Given the description of an element on the screen output the (x, y) to click on. 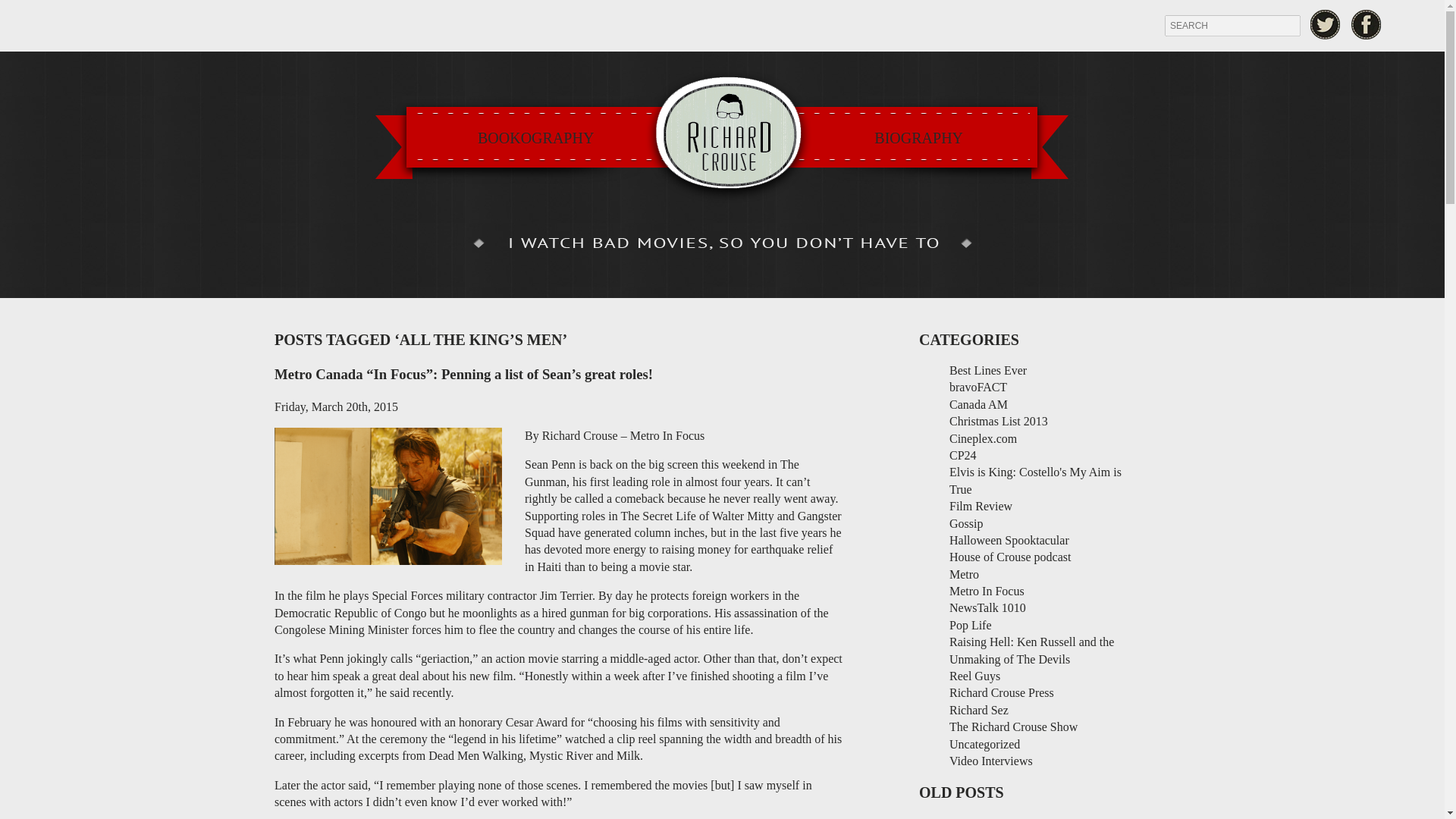
Richard Crouse (721, 137)
bravoFACT (978, 386)
BIOGRAPHY (918, 137)
Twitter (1324, 24)
Canada AM (978, 404)
BOOKOGRAPHY (535, 137)
By Richard Crouse (570, 435)
Christmas List 2013 (998, 420)
Facebook (1366, 24)
Best Lines Ever (987, 369)
